Given the description of an element on the screen output the (x, y) to click on. 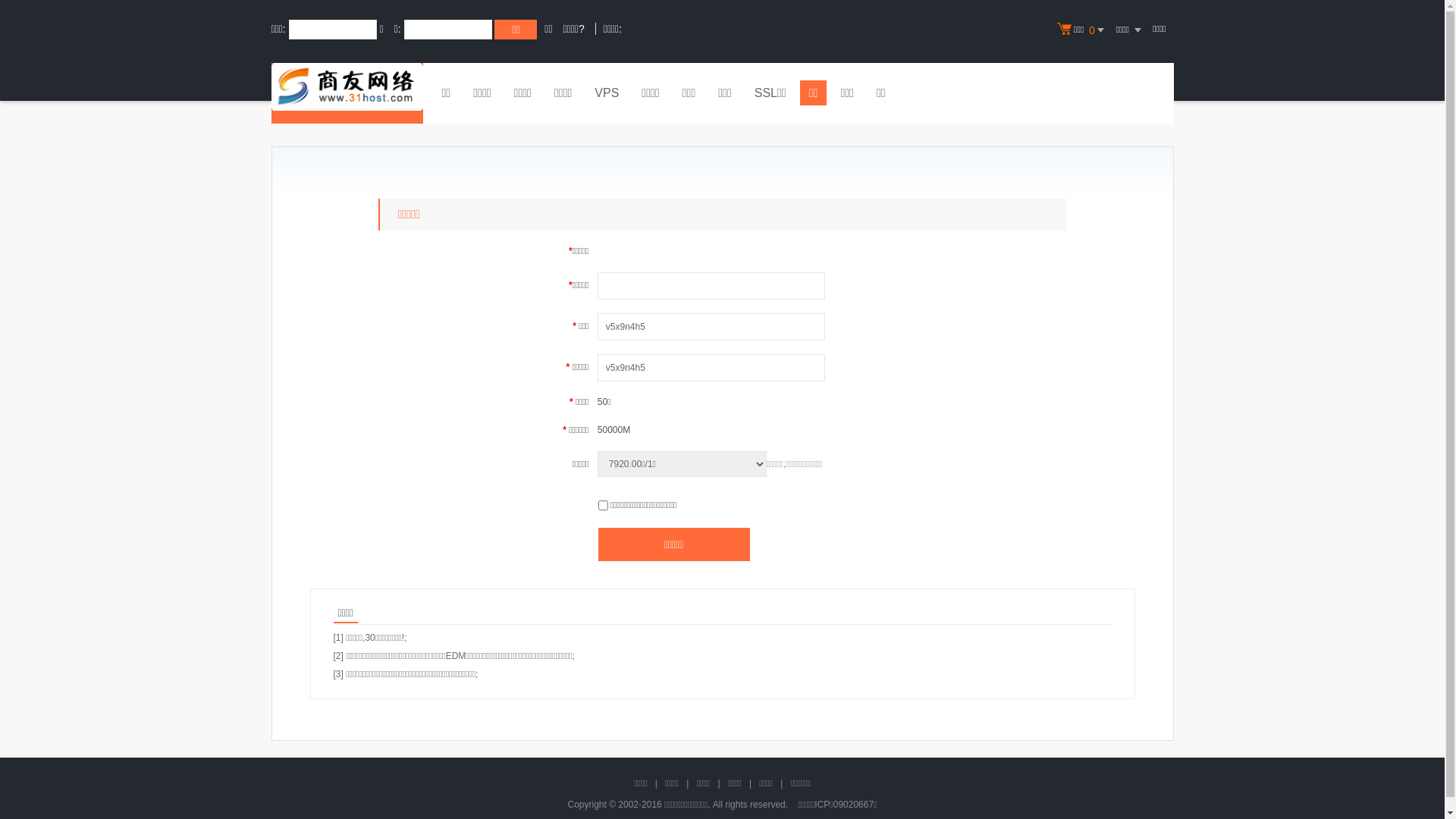
VPS Element type: text (606, 94)
